Given the description of an element on the screen output the (x, y) to click on. 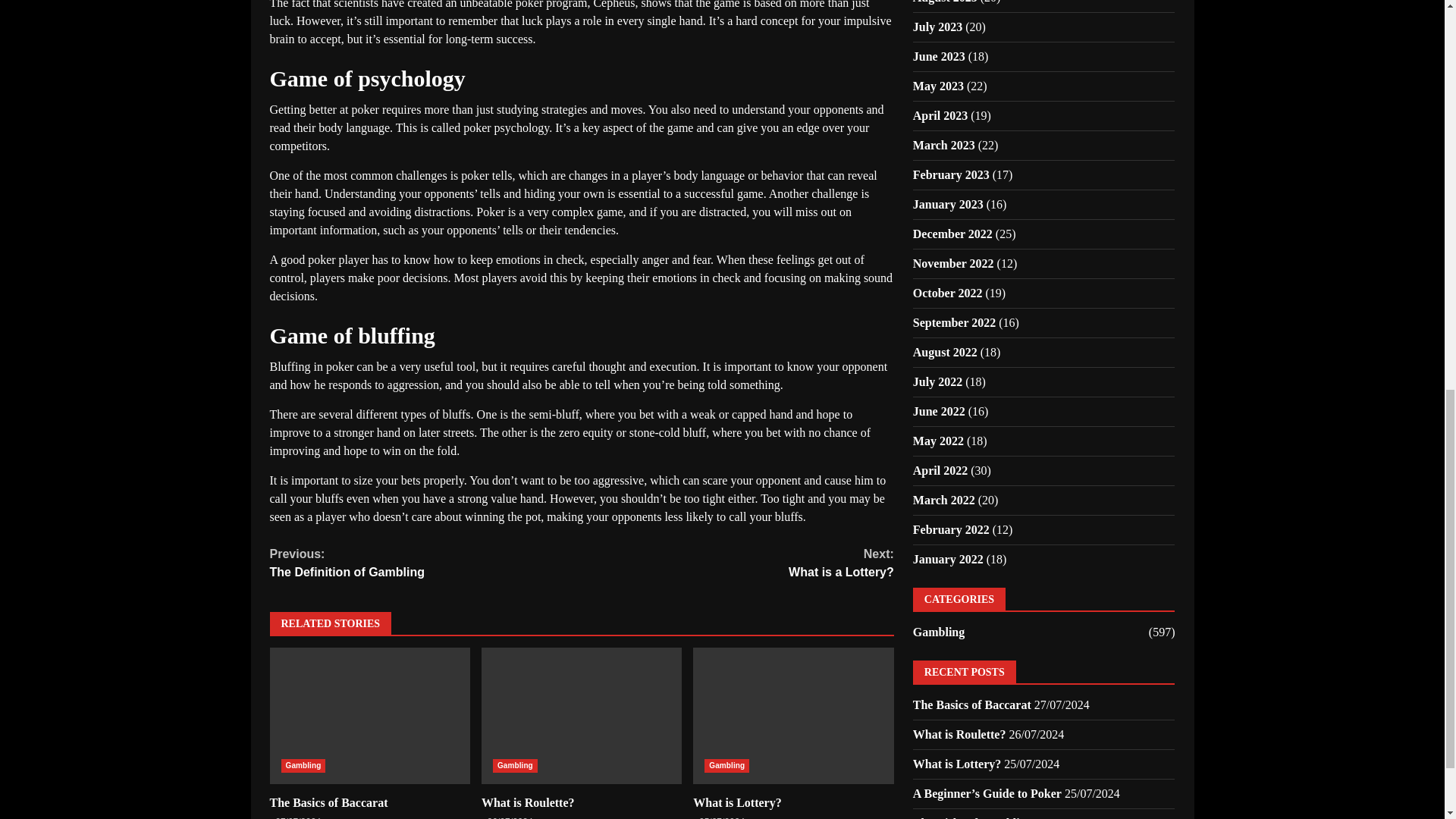
What is Roulette? (528, 802)
What is Lottery? (793, 715)
Gambling (726, 766)
The Basics of Baccarat (736, 563)
What is Lottery? (425, 563)
The Basics of Baccarat (369, 715)
Gambling (736, 802)
What is Roulette? (328, 802)
Gambling (302, 766)
